Given the description of an element on the screen output the (x, y) to click on. 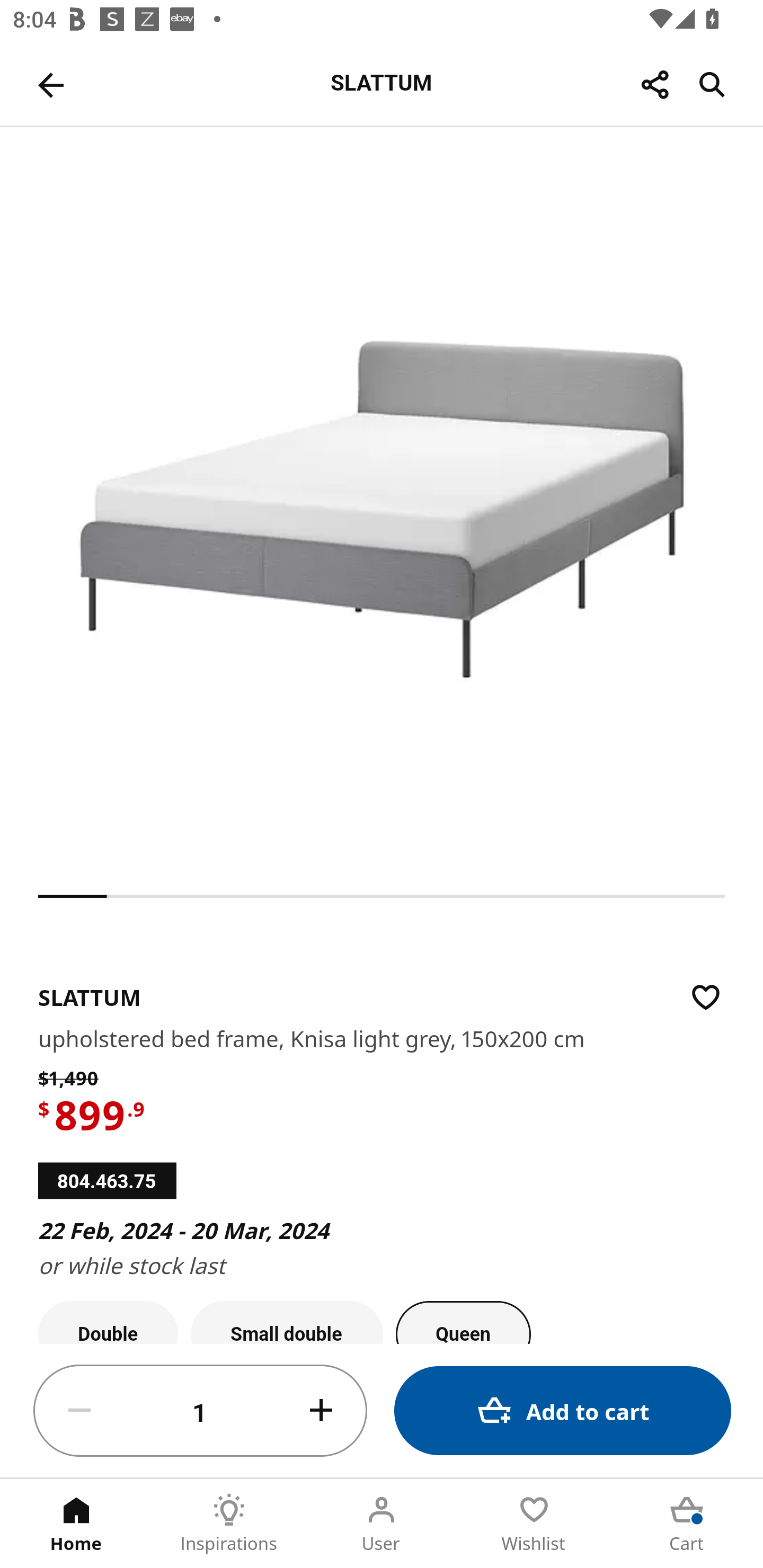
Double (107, 1322)
Small double (286, 1322)
Queen (463, 1322)
Add to cart (562, 1410)
1 (200, 1411)
Home
Tab 1 of 5 (76, 1522)
Inspirations
Tab 2 of 5 (228, 1522)
User
Tab 3 of 5 (381, 1522)
Wishlist
Tab 4 of 5 (533, 1522)
Cart
Tab 5 of 5 (686, 1522)
